Given the description of an element on the screen output the (x, y) to click on. 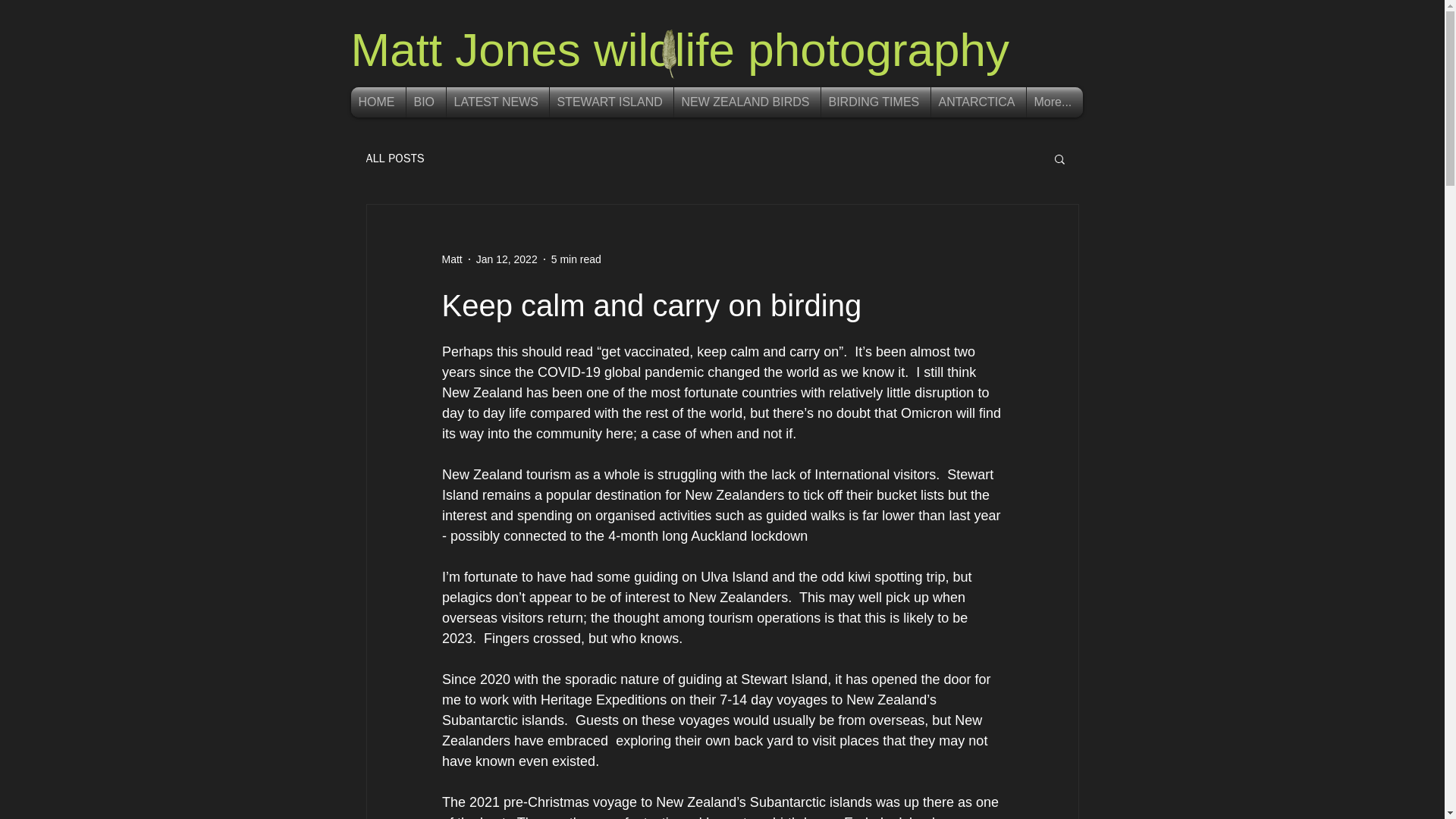
BIRDING TIMES (875, 101)
ANTARCTICA (978, 101)
ALL POSTS (394, 157)
Jan 12, 2022 (506, 259)
5 min read (576, 259)
HOME (377, 101)
LATEST NEWS (496, 101)
BIO (425, 101)
Matt (451, 259)
